Given the description of an element on the screen output the (x, y) to click on. 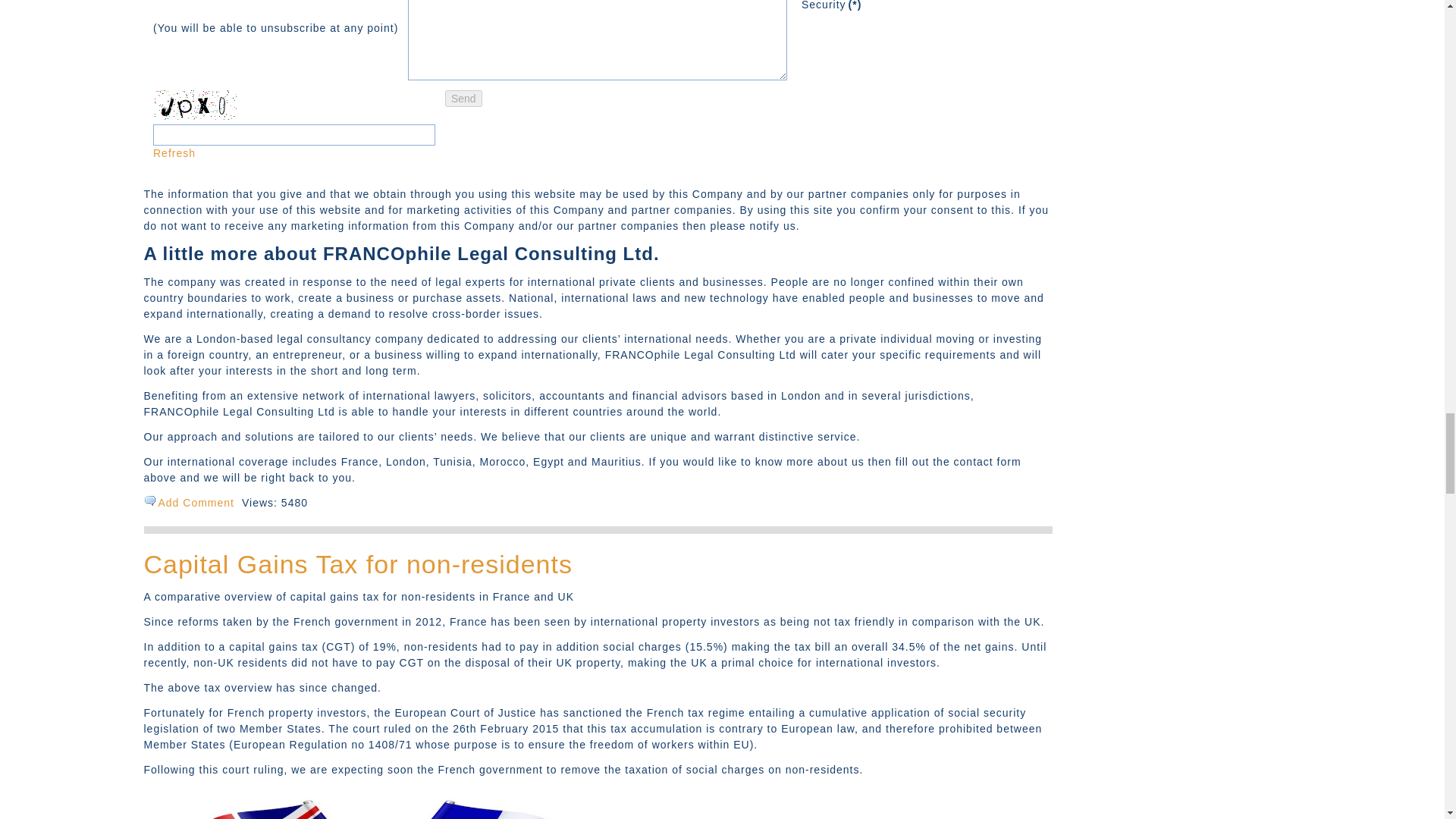
Send (463, 98)
